Given the description of an element on the screen output the (x, y) to click on. 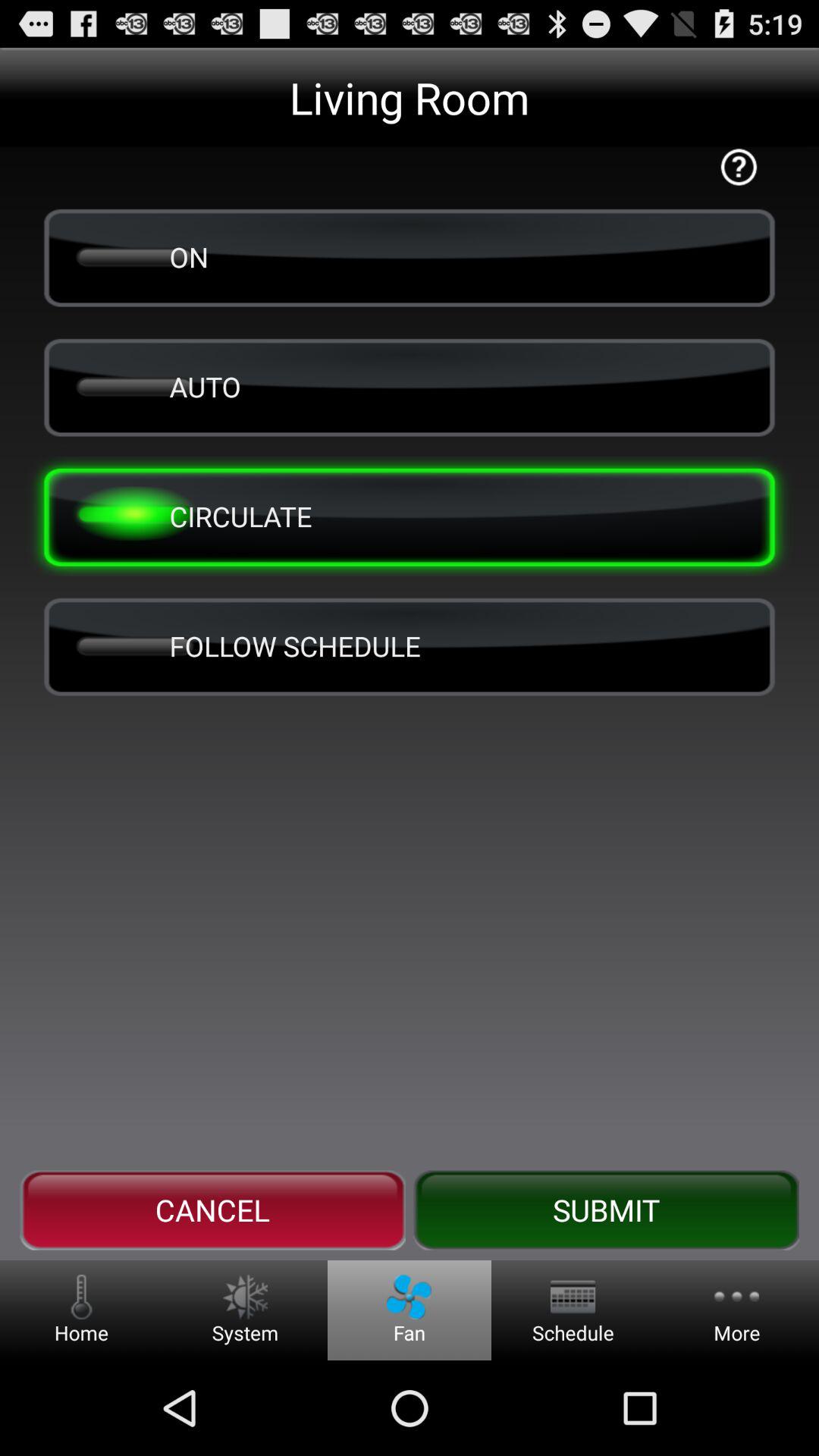
press button above on button (739, 167)
